Given the description of an element on the screen output the (x, y) to click on. 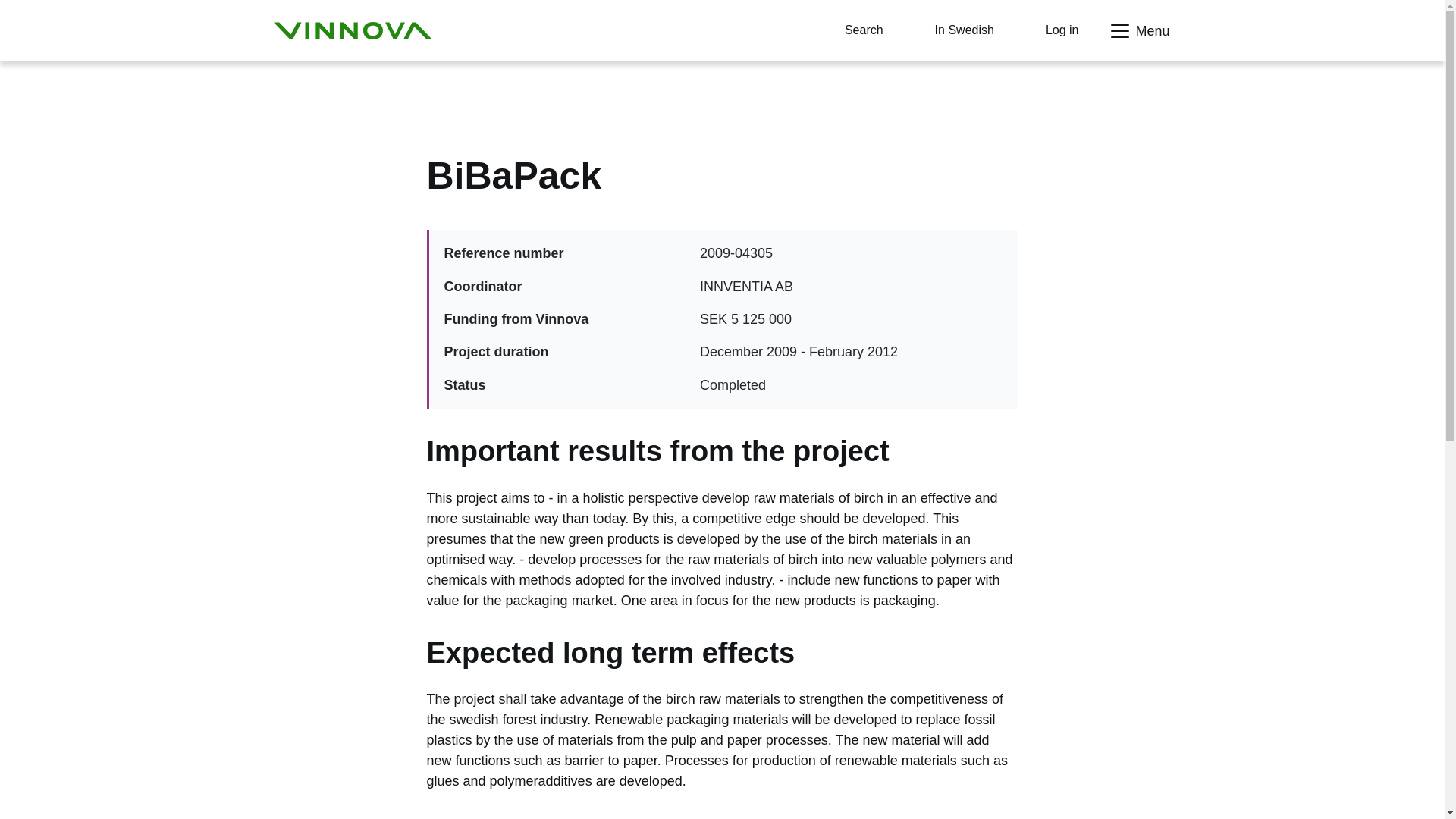
Menu (1137, 31)
Vinnova logo, link to start page. (351, 29)
In Swedish (951, 29)
Menu (1137, 31)
Search (851, 29)
Log in (1049, 29)
